Given the description of an element on the screen output the (x, y) to click on. 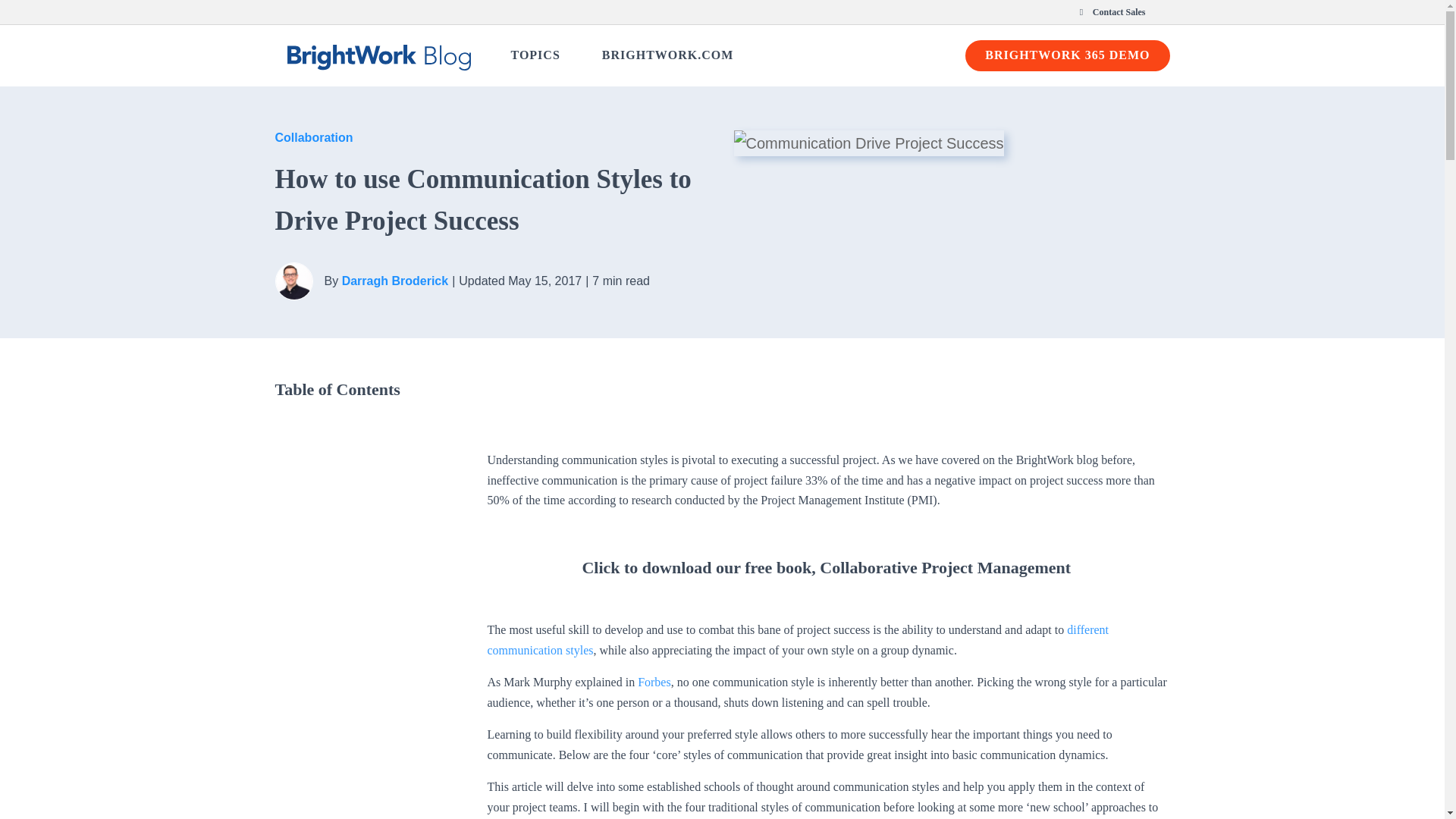
Contact Sales (1110, 12)
Category Name (313, 137)
BRIGHTWORK.COM (722, 55)
TOPICS (667, 55)
Forbes (537, 55)
Contact Sales (654, 681)
Posts by Darragh Broderick (722, 12)
Darragh Broderick (395, 280)
